Given the description of an element on the screen output the (x, y) to click on. 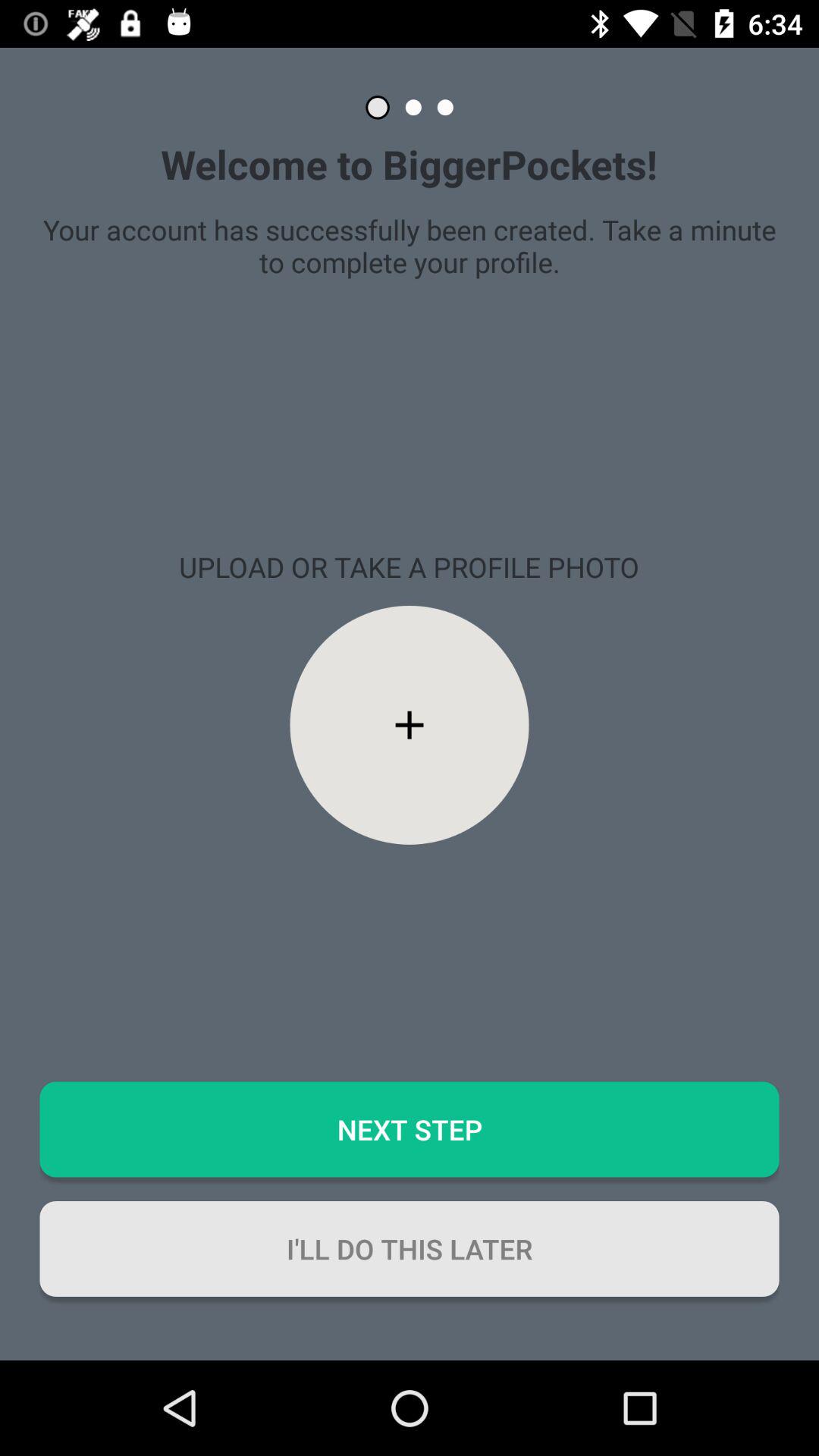
flip until next step item (409, 1129)
